Given the description of an element on the screen output the (x, y) to click on. 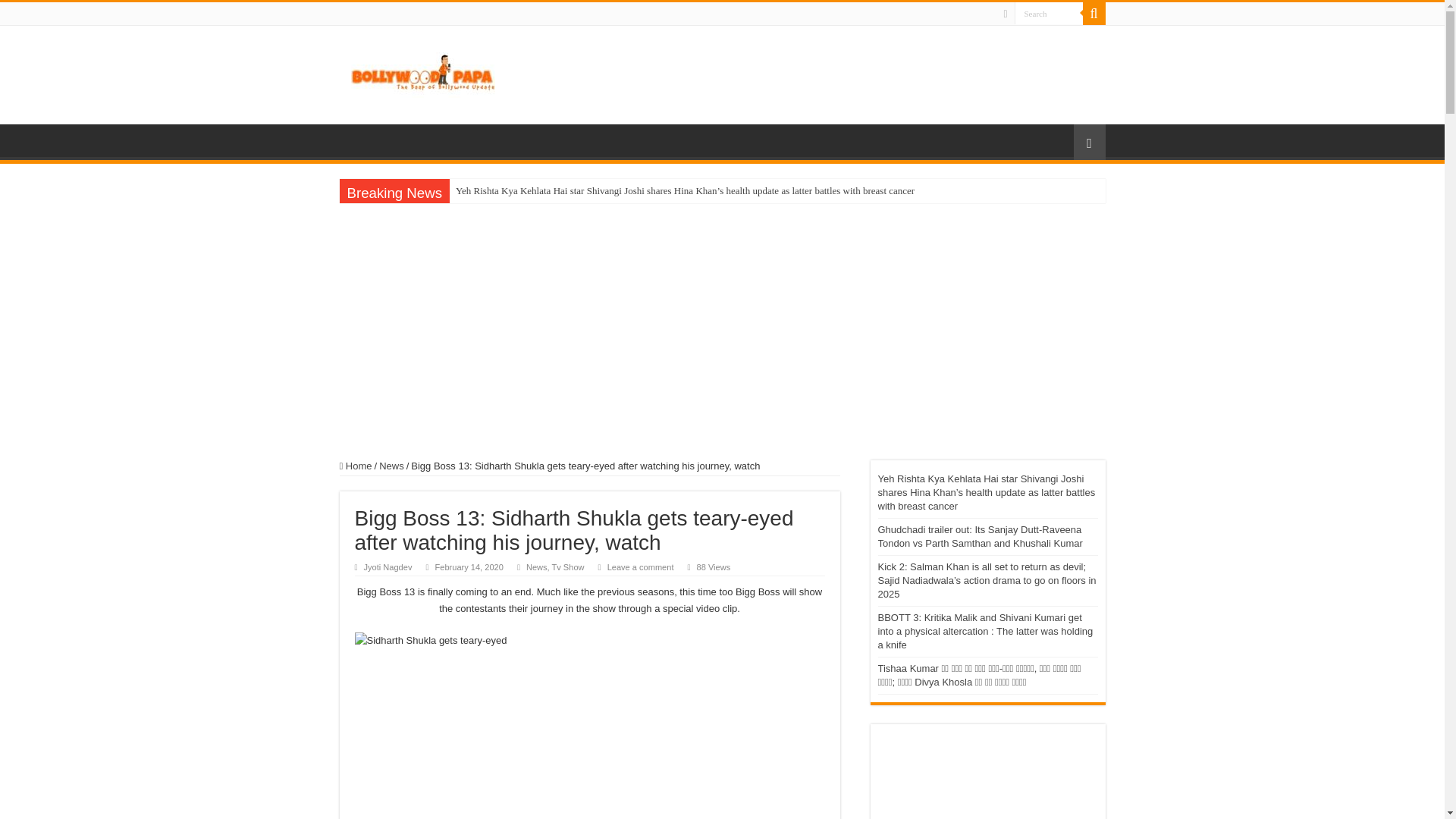
Jyoti Nagdev (388, 566)
Leave a comment (640, 566)
Search (1048, 13)
Search (1094, 13)
Home (355, 465)
Search (1048, 13)
News (536, 566)
Tv Show (568, 566)
News (391, 465)
Bollywood Papa (422, 72)
Search (1048, 13)
